Given the description of an element on the screen output the (x, y) to click on. 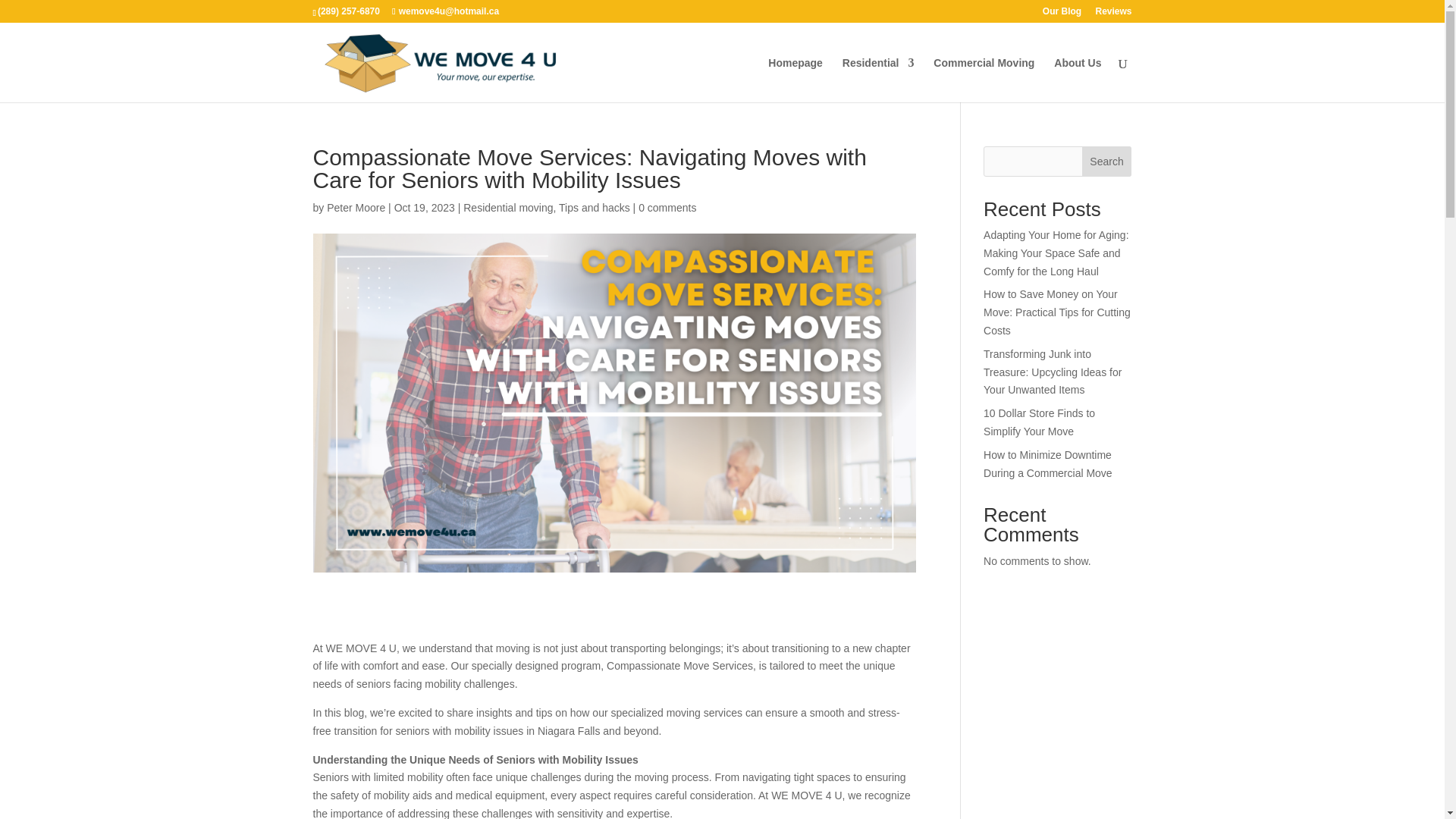
How to Minimize Downtime During a Commercial Move (1048, 463)
Posts by Peter Moore (355, 207)
Search (1106, 161)
About Us (1077, 79)
Reviews (1112, 14)
Tips and hacks (594, 207)
Residential (878, 79)
Homepage (795, 79)
Commercial Moving (983, 79)
Residential moving (508, 207)
Our Blog (1061, 14)
0 comments (667, 207)
10 Dollar Store Finds to Simplify Your Move (1039, 422)
